Given the description of an element on the screen output the (x, y) to click on. 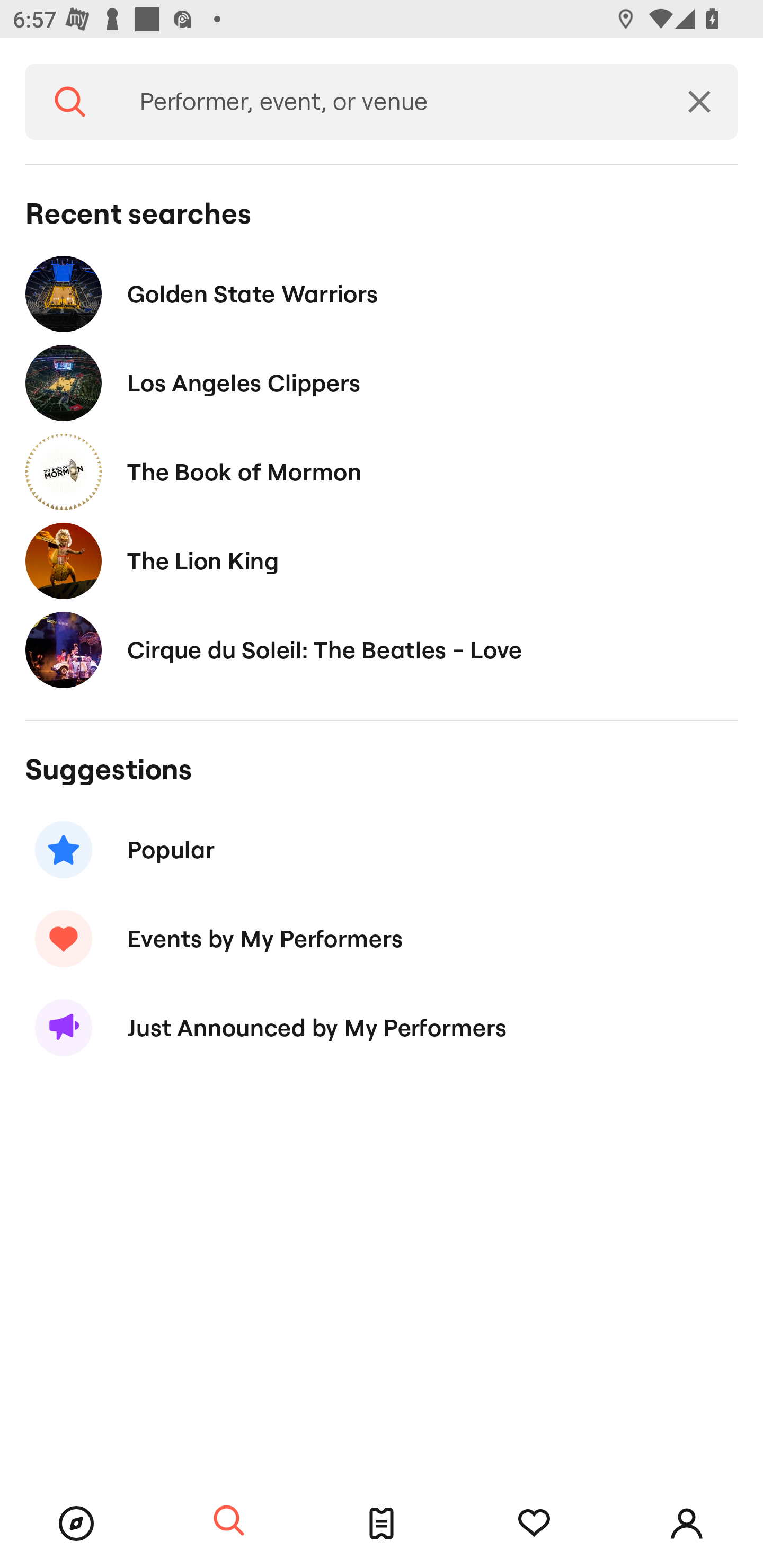
Search (69, 101)
Performer, event, or venue (387, 101)
Clear (699, 101)
Golden State Warriors (381, 293)
Los Angeles Clippers (381, 383)
The Book of Mormon (381, 471)
The Lion King (381, 560)
Cirque du Soleil: The Beatles - Love (381, 649)
Popular (381, 849)
Events by My Performers (381, 938)
Just Announced by My Performers (381, 1027)
Browse (76, 1523)
Search (228, 1521)
Tickets (381, 1523)
Tracking (533, 1523)
Account (686, 1523)
